Given the description of an element on the screen output the (x, y) to click on. 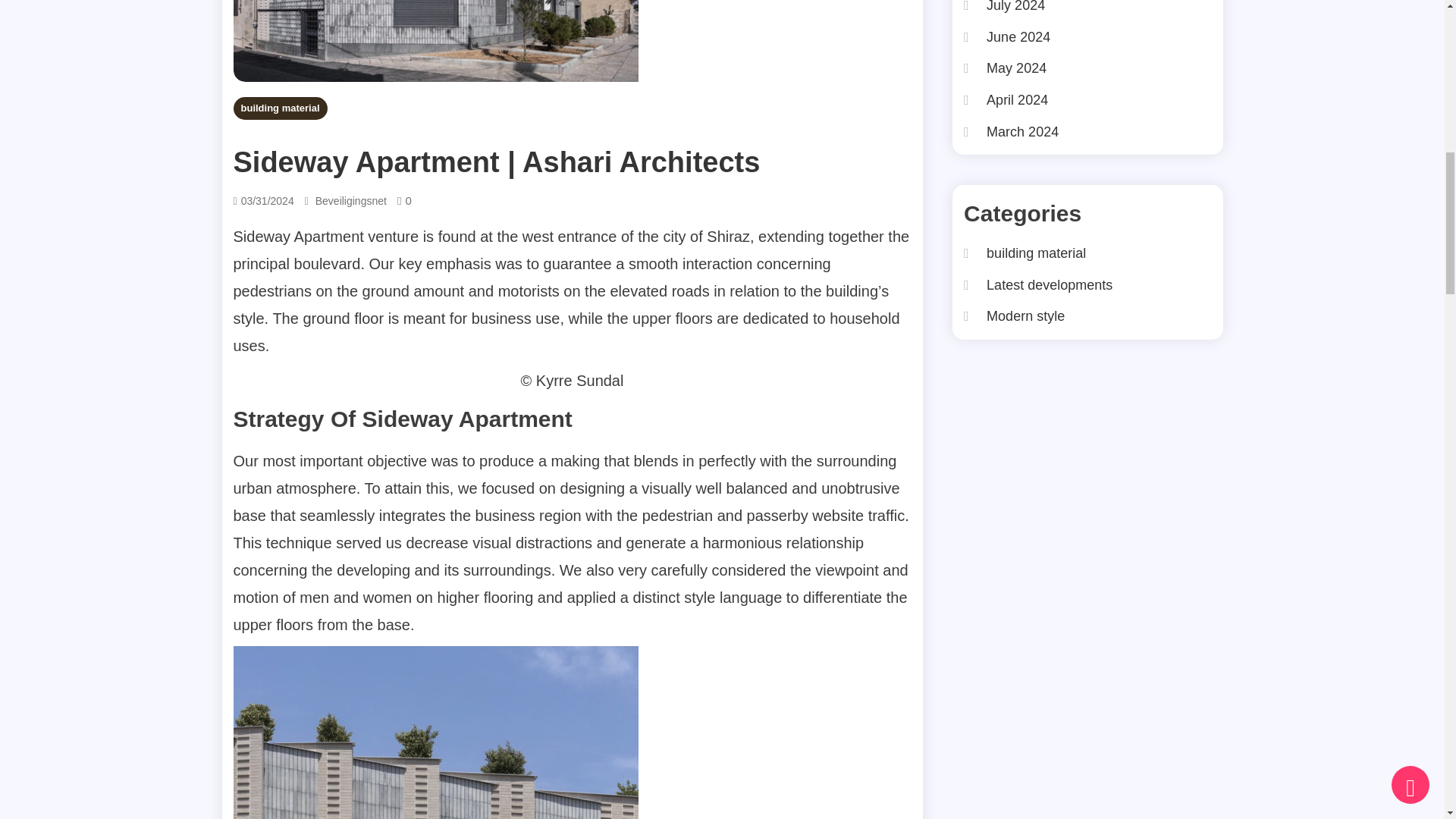
Beveiligingsnet (351, 200)
building material (279, 107)
